Given the description of an element on the screen output the (x, y) to click on. 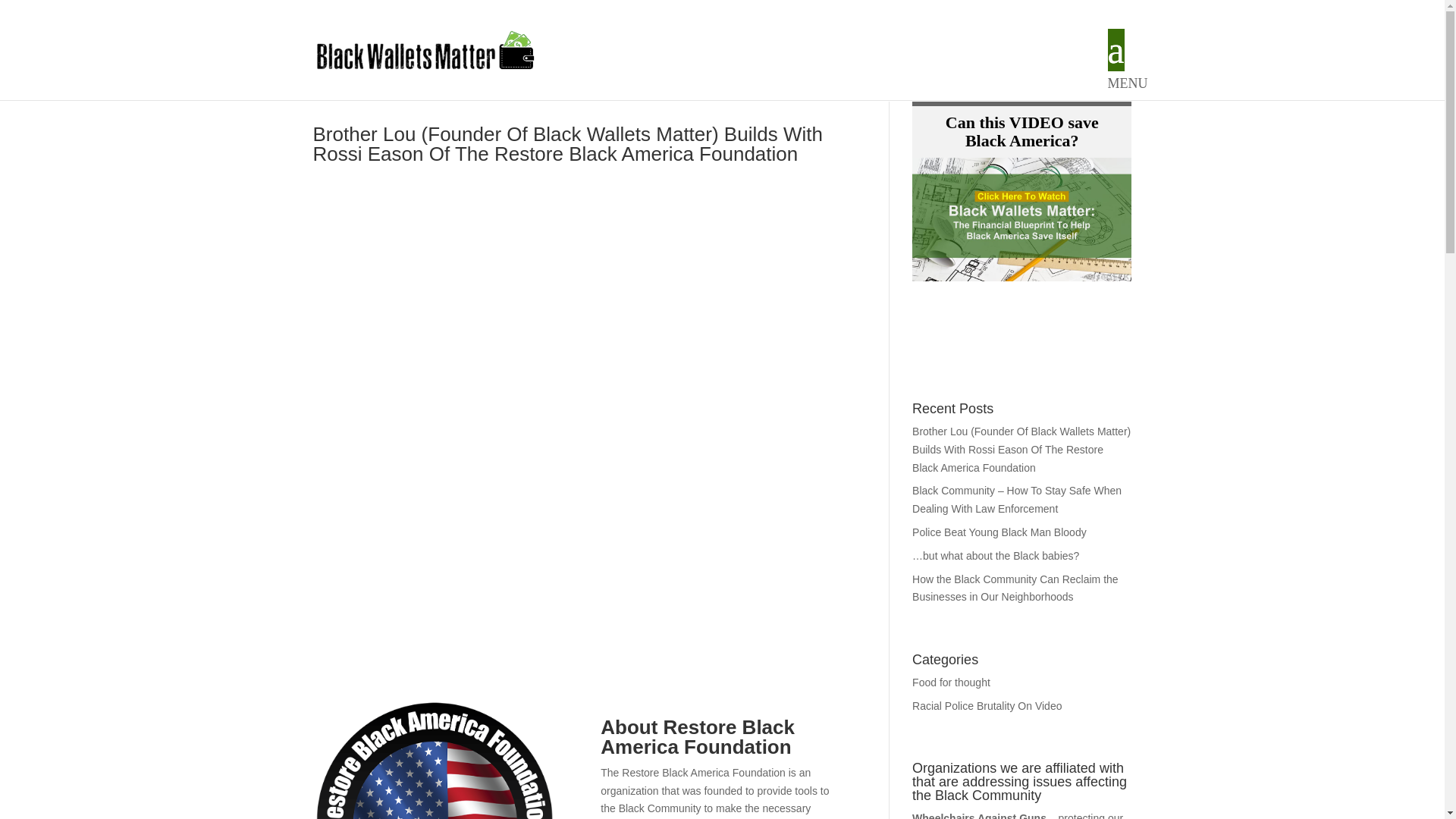
Racial Police Brutality On Video (986, 705)
Food for thought (951, 682)
Police Beat Young Black Man Bloody (1021, 195)
